Given the description of an element on the screen output the (x, y) to click on. 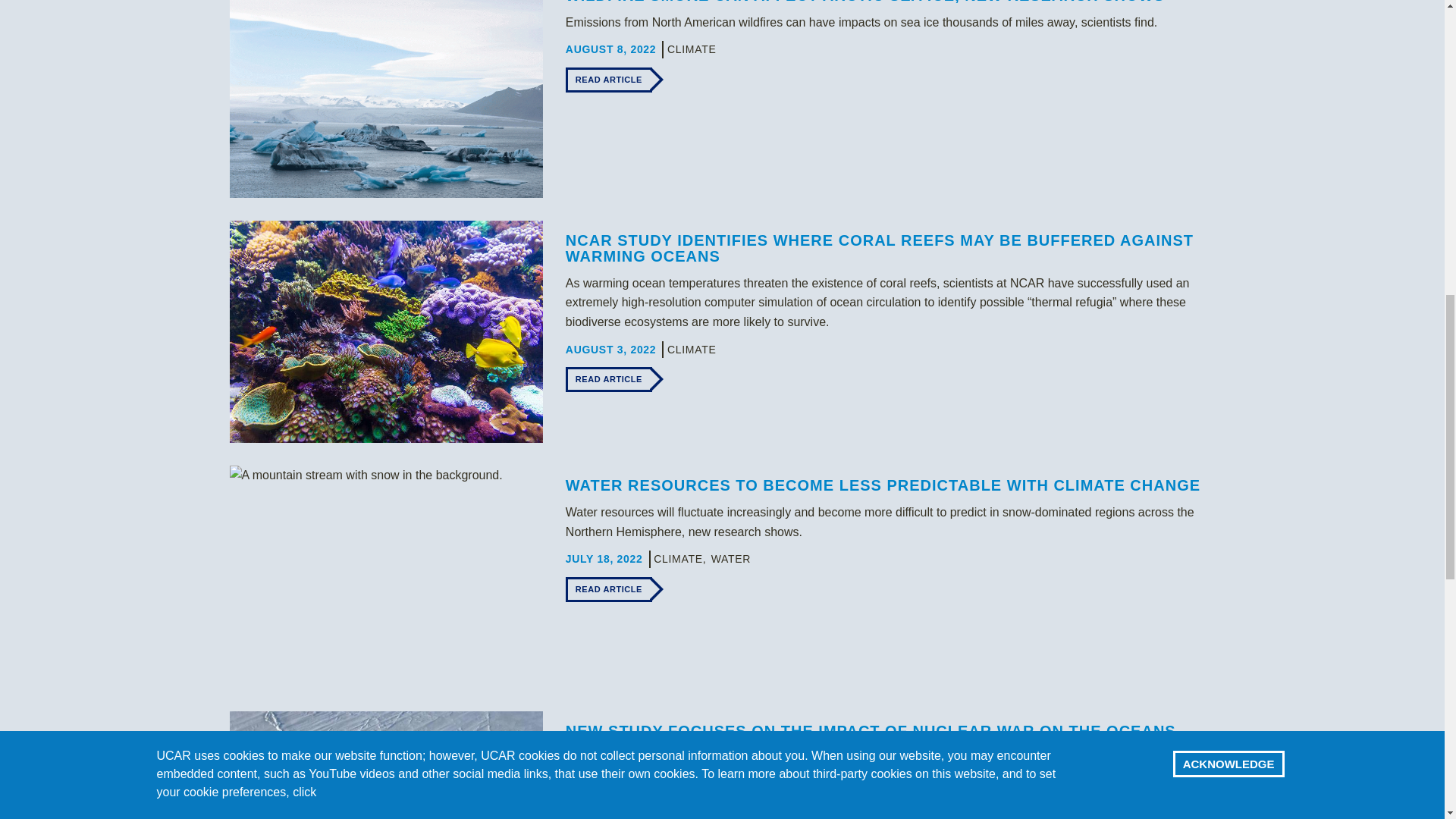
READ ARTICLE (609, 589)
READ ARTICLE (609, 79)
NEW STUDY FOCUSES ON THE IMPACT OF NUCLEAR WAR ON THE OCEANS (871, 730)
READ ARTICLE (609, 379)
